Given the description of an element on the screen output the (x, y) to click on. 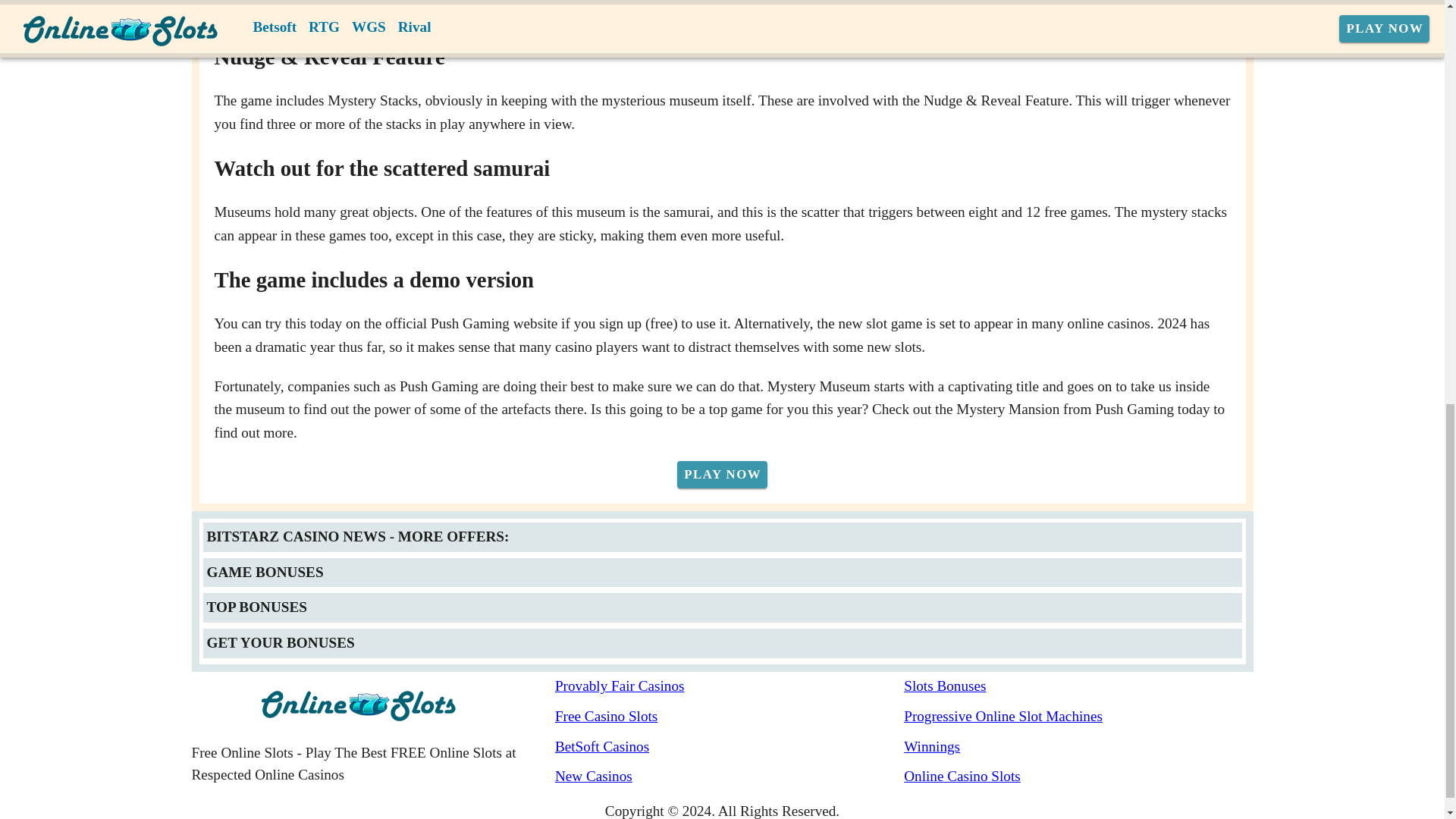
Slots Bonuses (1078, 686)
Provably Fair Casinos (729, 686)
PLAY NOW (722, 474)
BetSoft Casinos (729, 747)
Online Casino Slots (1078, 776)
Winnings (1078, 747)
Free Casino Slots (729, 716)
New Casinos (729, 776)
Progressive Online Slot Machines (1078, 716)
